Given the description of an element on the screen output the (x, y) to click on. 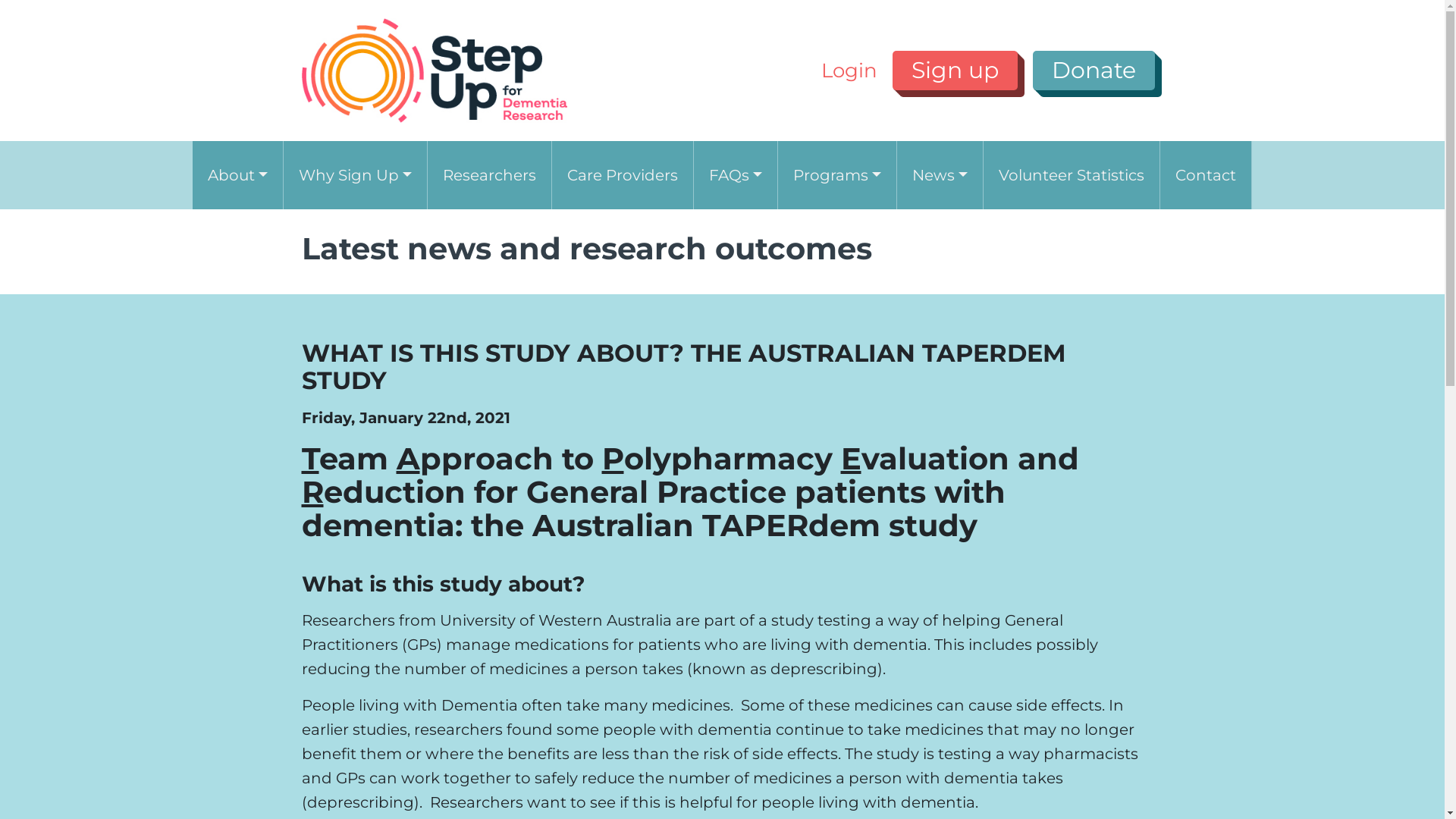
Contact Element type: text (1205, 175)
FAQs Element type: text (735, 175)
Researchers Element type: text (489, 175)
Sign up Element type: text (953, 70)
News Element type: text (939, 175)
Donate Element type: text (1093, 70)
Programs Element type: text (837, 175)
Why Sign Up Element type: text (354, 175)
Care Providers Element type: text (622, 175)
Volunteer Statistics Element type: text (1071, 175)
About Element type: text (237, 175)
Login Element type: text (848, 70)
